Given the description of an element on the screen output the (x, y) to click on. 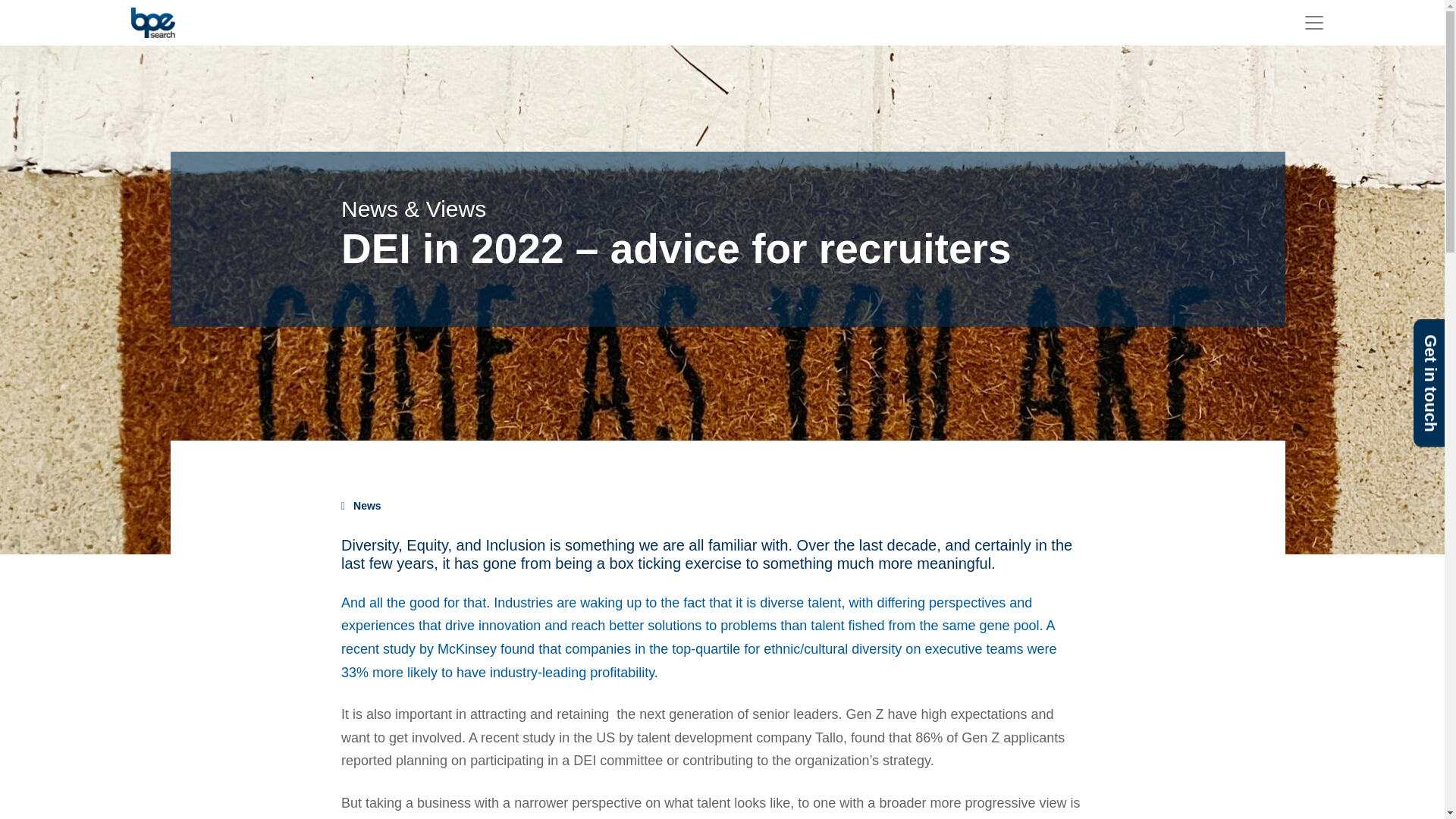
News (367, 505)
